Given the description of an element on the screen output the (x, y) to click on. 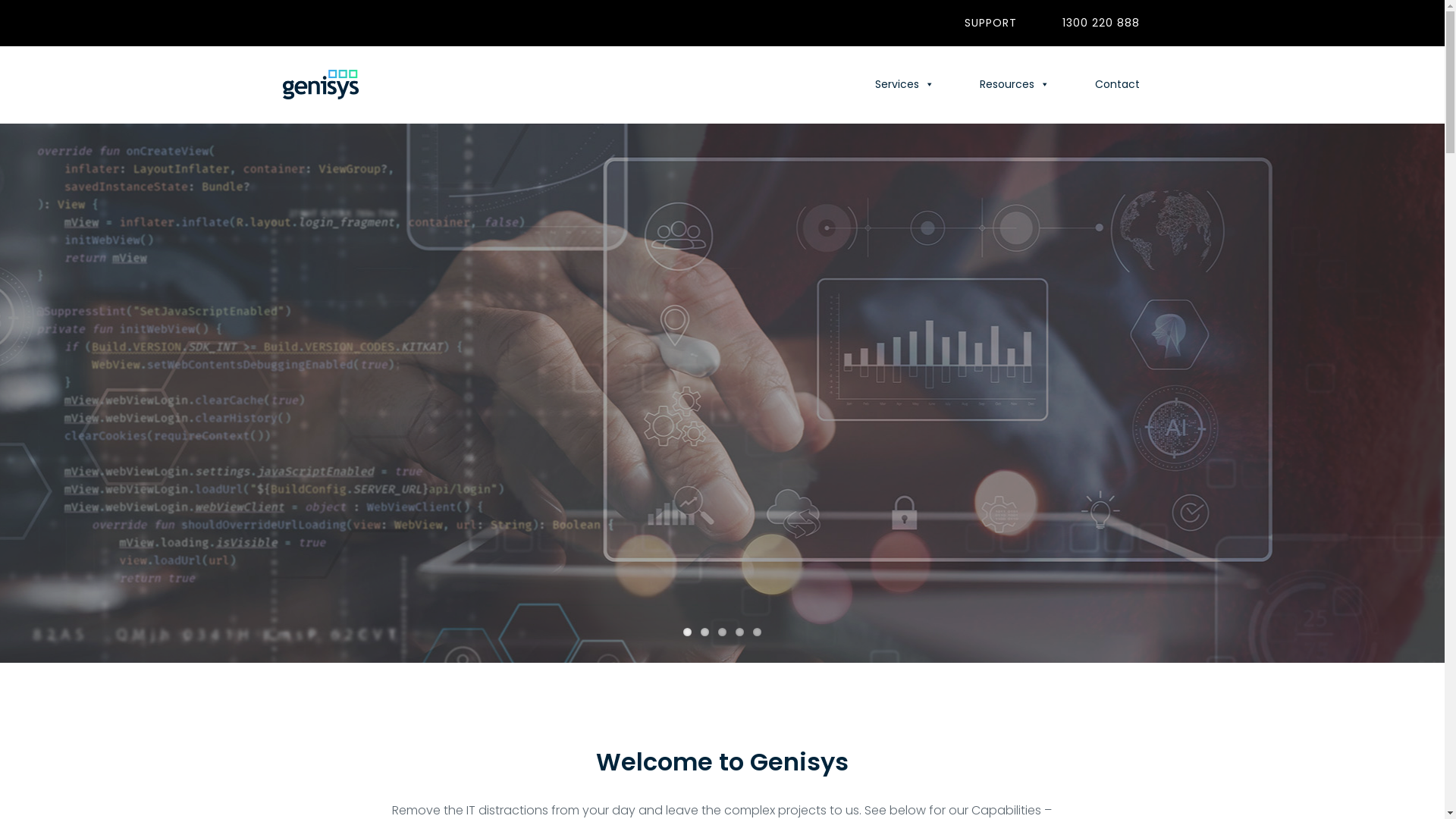
DATA SERVICES Element type: text (721, 420)
Services Element type: text (904, 84)
1 Element type: text (687, 631)
SUPPORT Element type: text (990, 22)
Contact Element type: text (1117, 84)
2 Element type: text (704, 631)
Resources Element type: text (1014, 84)
5 Element type: text (757, 631)
3 Element type: text (722, 631)
1300 220 888 Element type: text (1099, 22)
4 Element type: text (739, 631)
